Given the description of an element on the screen output the (x, y) to click on. 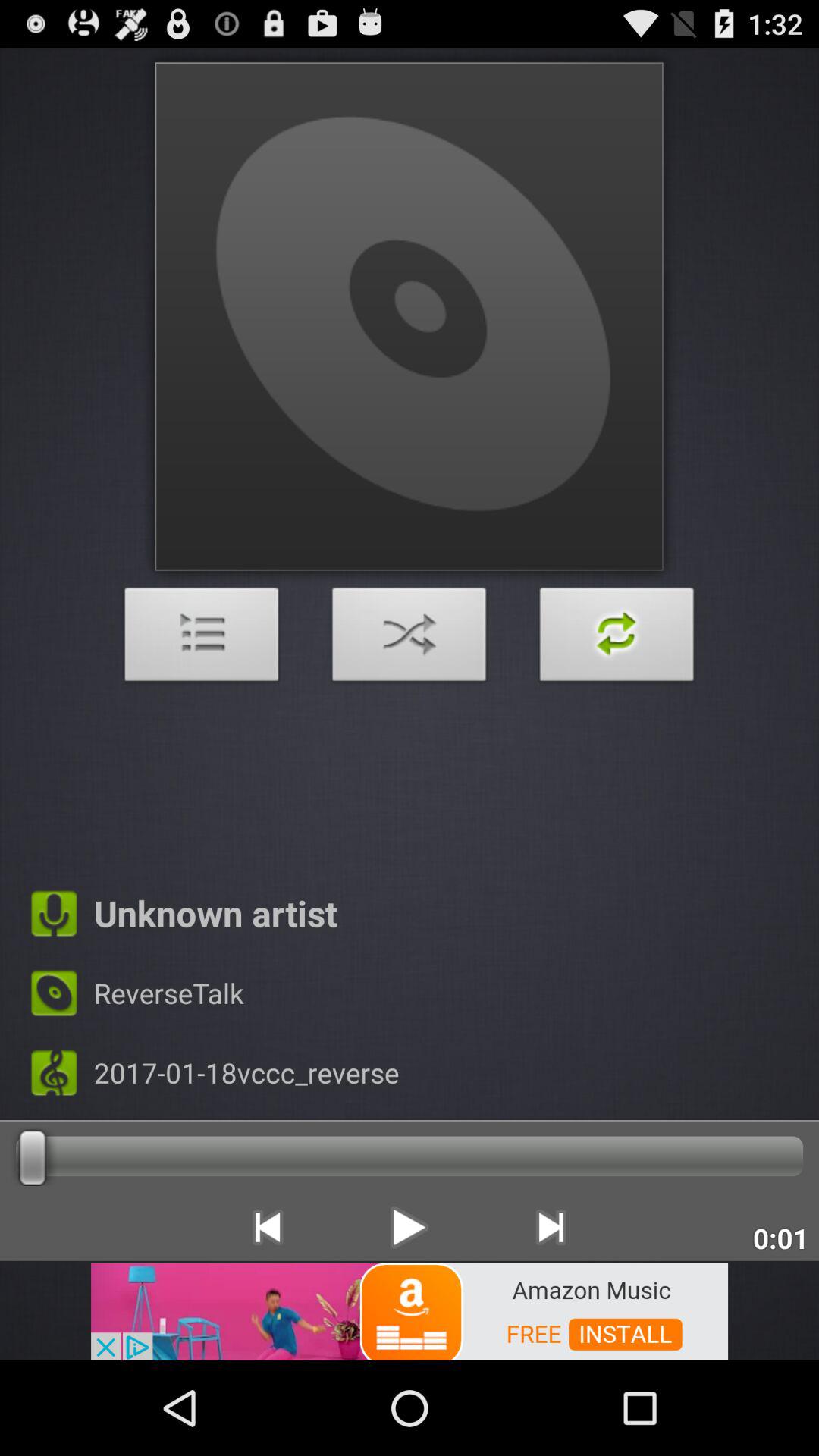
this is an advertisement (409, 1310)
